Given the description of an element on the screen output the (x, y) to click on. 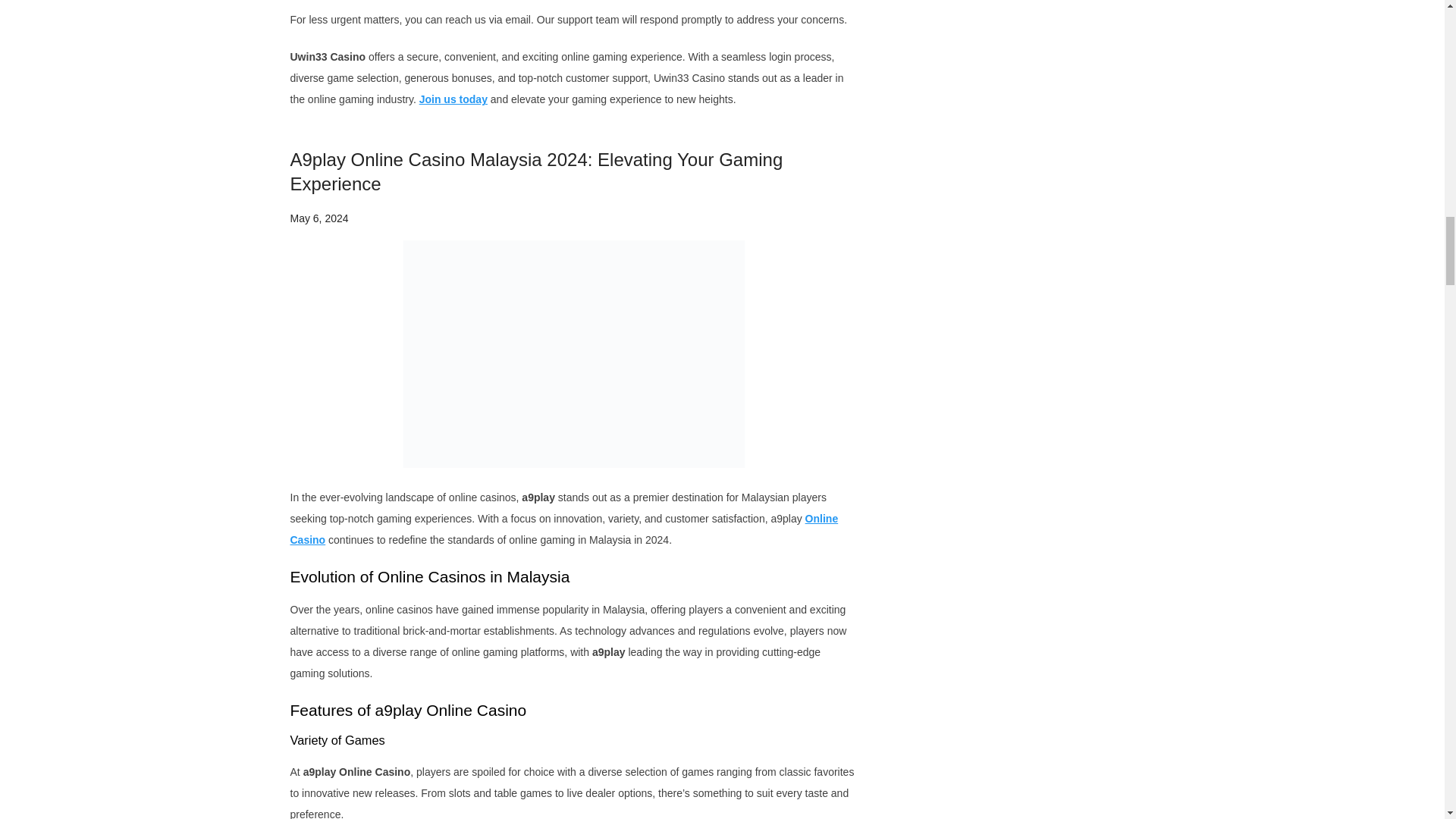
May 6, 2024 (318, 218)
Join us today (453, 99)
Online Casino (563, 529)
